Given the description of an element on the screen output the (x, y) to click on. 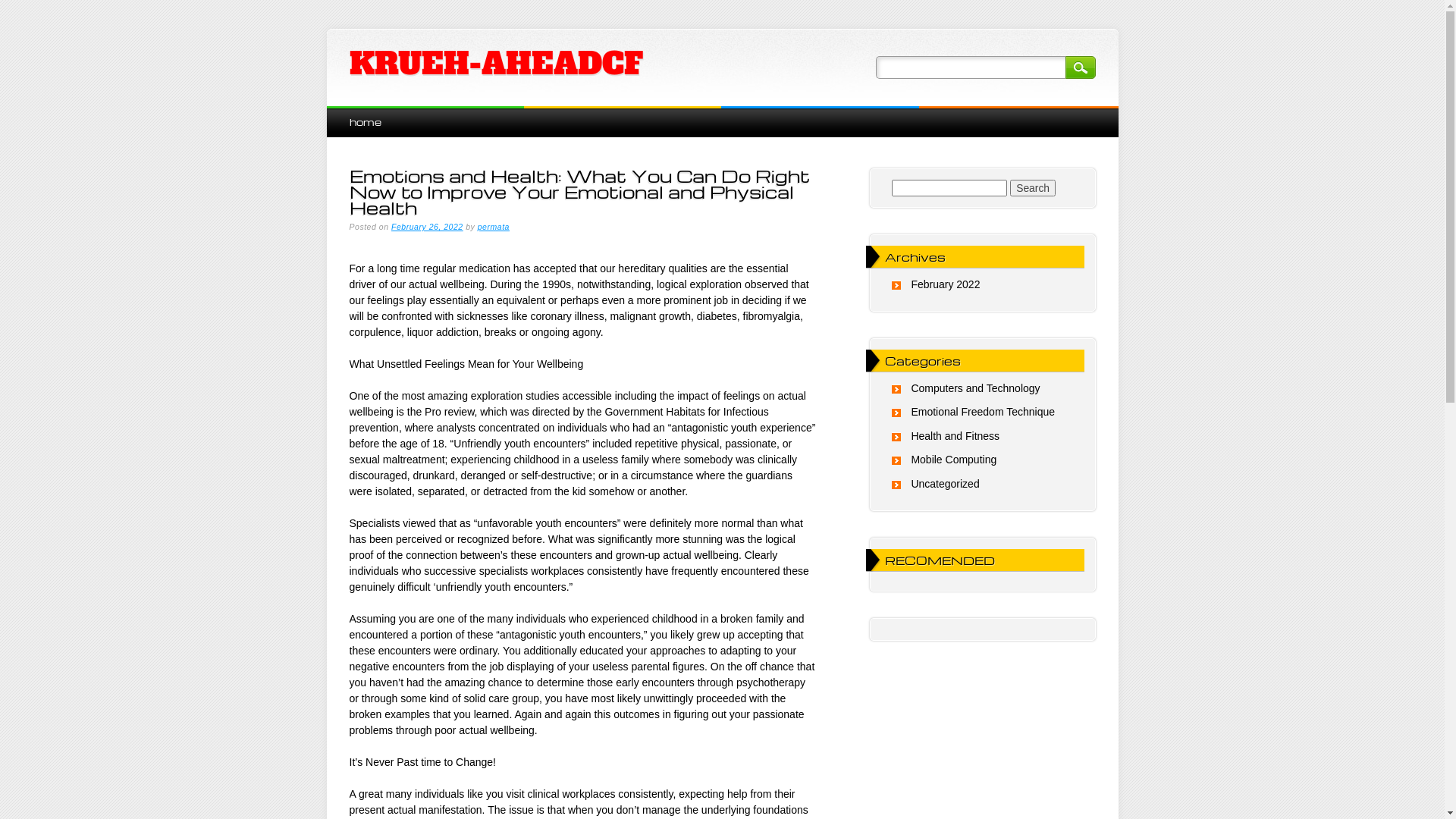
Emotional Freedom Technique Element type: text (982, 411)
Mobile Computing Element type: text (953, 459)
Computers and Technology Element type: text (974, 388)
Search Element type: text (1079, 67)
Search Element type: text (1032, 187)
Health and Fitness Element type: text (954, 435)
Skip to content Element type: text (361, 113)
Uncategorized Element type: text (944, 483)
February 26, 2022 Element type: text (427, 226)
February 2022 Element type: text (944, 284)
permata Element type: text (493, 226)
home Element type: text (364, 121)
KRUEH-AHEADCF Element type: text (495, 63)
